Given the description of an element on the screen output the (x, y) to click on. 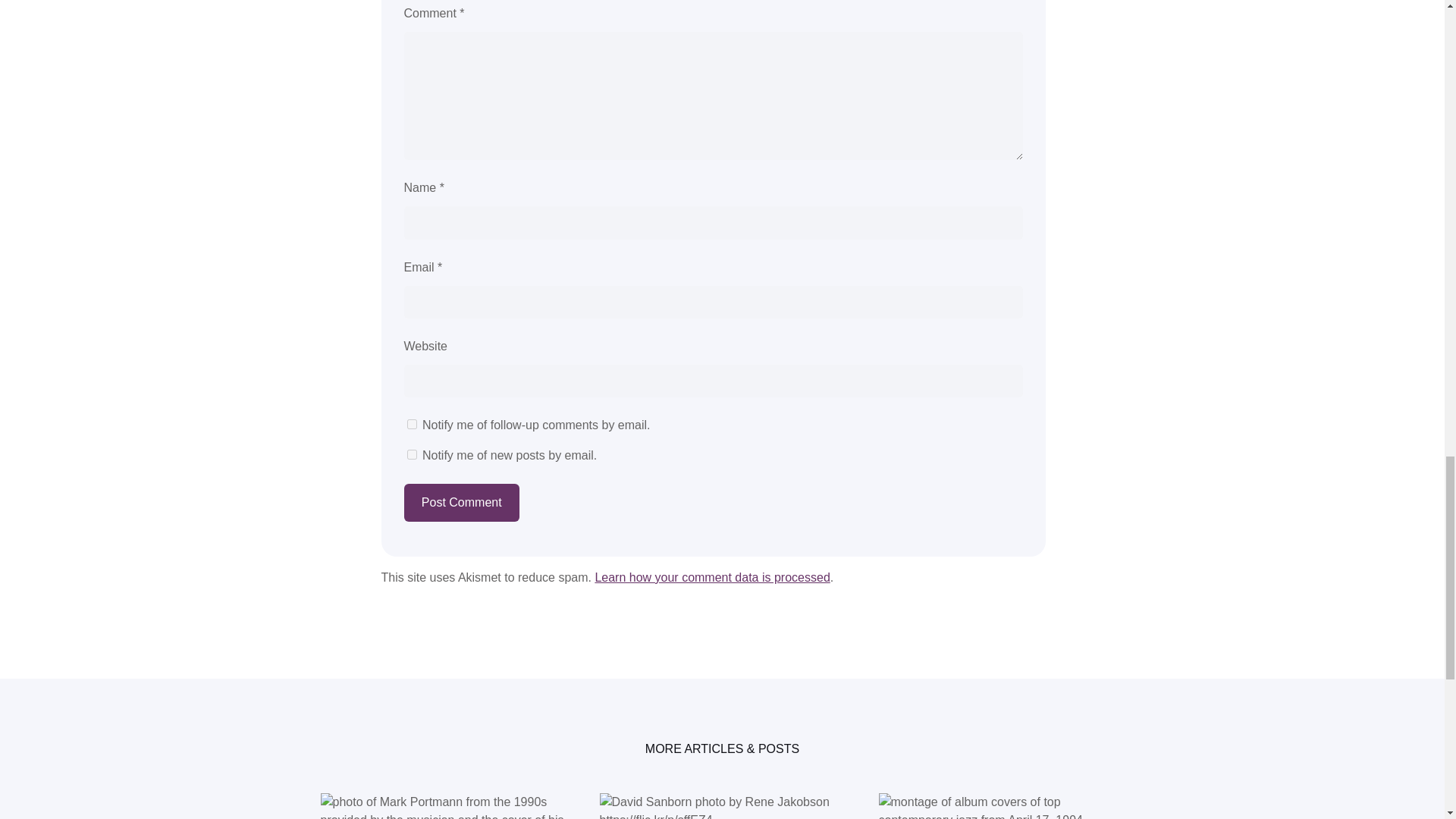
Post Comment (460, 502)
subscribe (411, 424)
Post Comment (460, 502)
subscribe (411, 454)
Learn how your comment data is processed (711, 576)
